Given the description of an element on the screen output the (x, y) to click on. 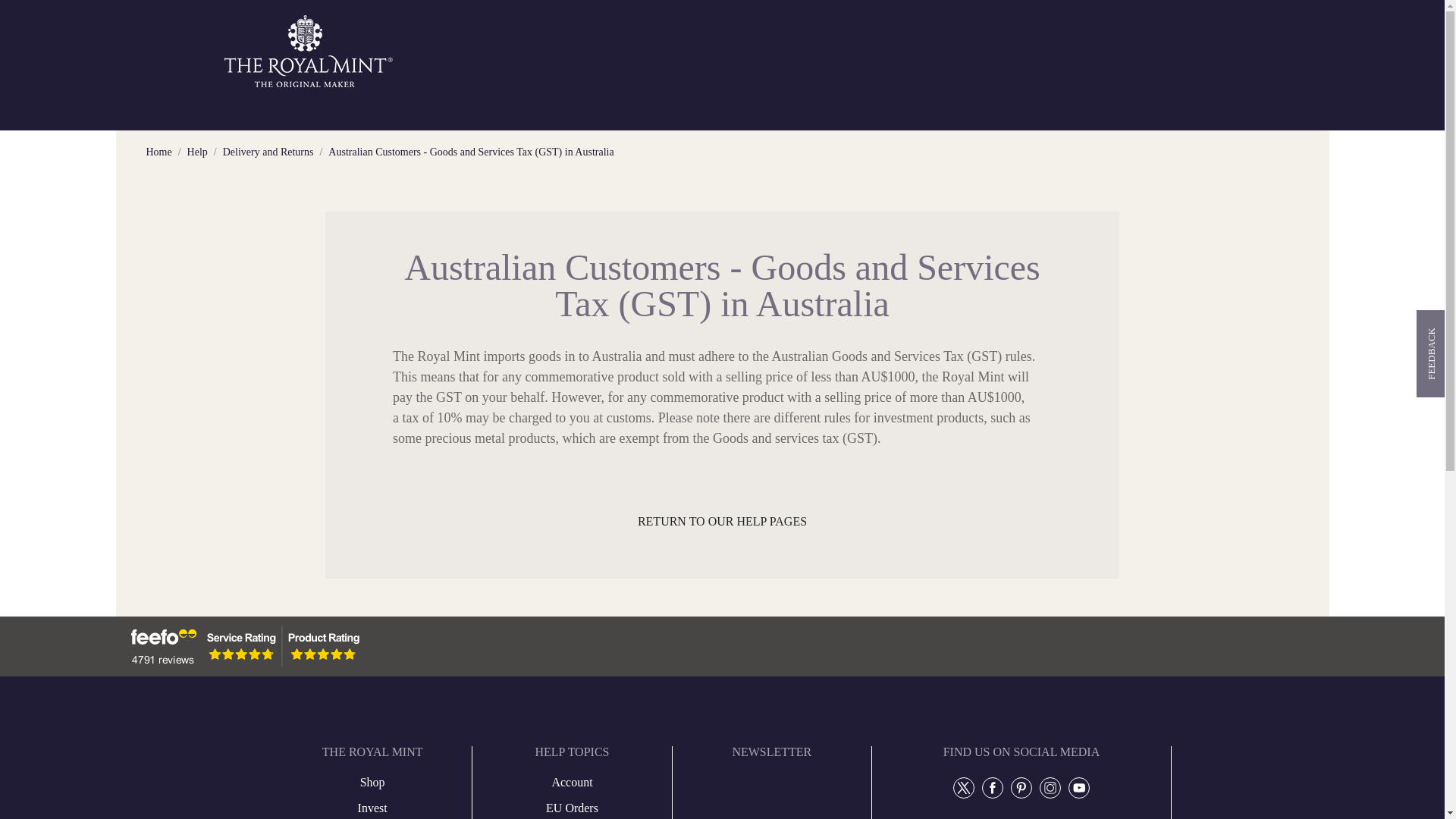
Delivery and Returns (268, 152)
The Royal Mint (309, 50)
Facebook (992, 787)
The Royal Mint - Copyright (309, 49)
Orders to the European Union (571, 808)
YouTube (1078, 787)
Read more independent Royal Mint reviews on Feefo (242, 646)
Help (197, 152)
Home (158, 152)
Pintrest (1020, 787)
